Given the description of an element on the screen output the (x, y) to click on. 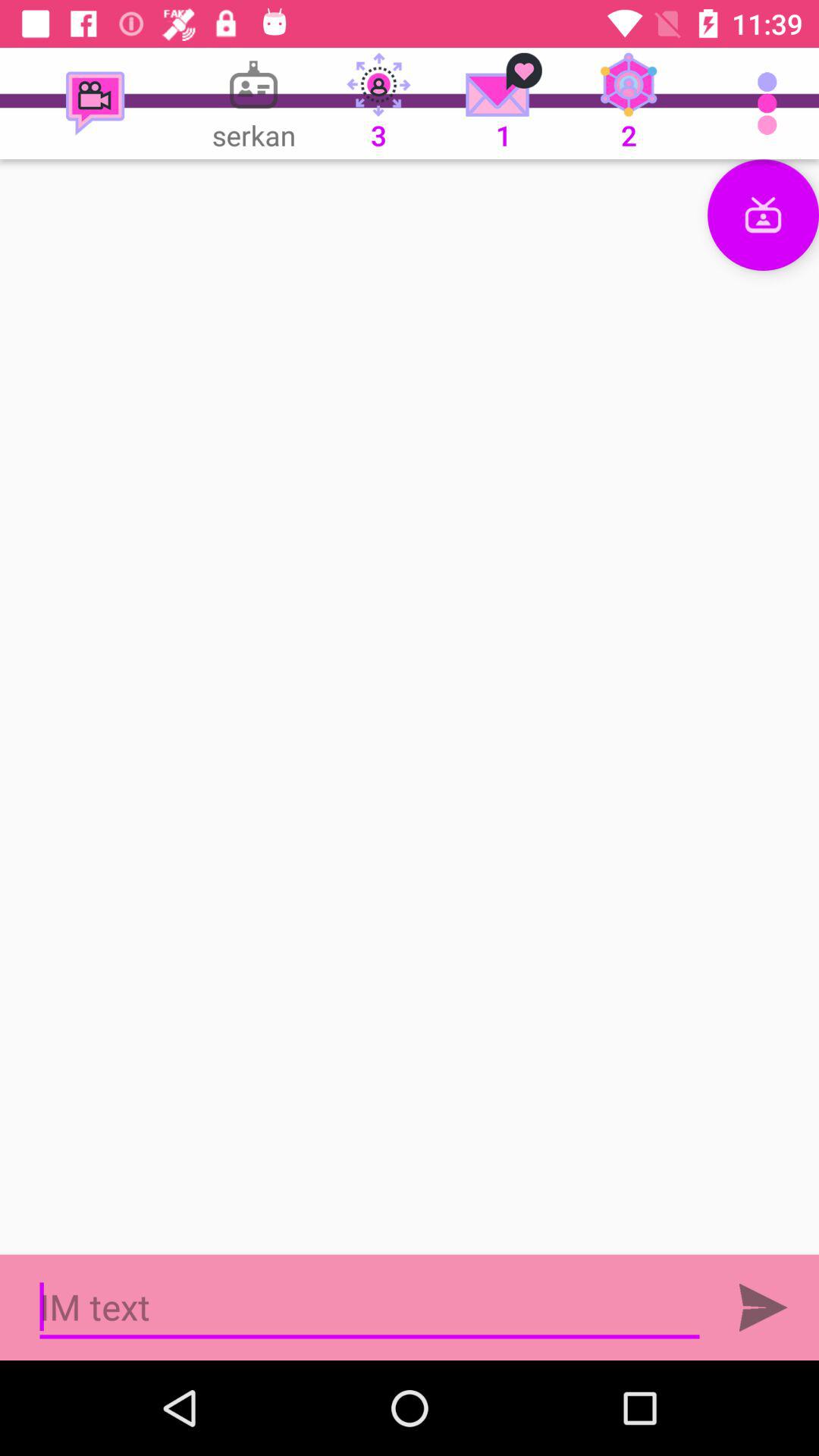
go to next (763, 1307)
